Given the description of an element on the screen output the (x, y) to click on. 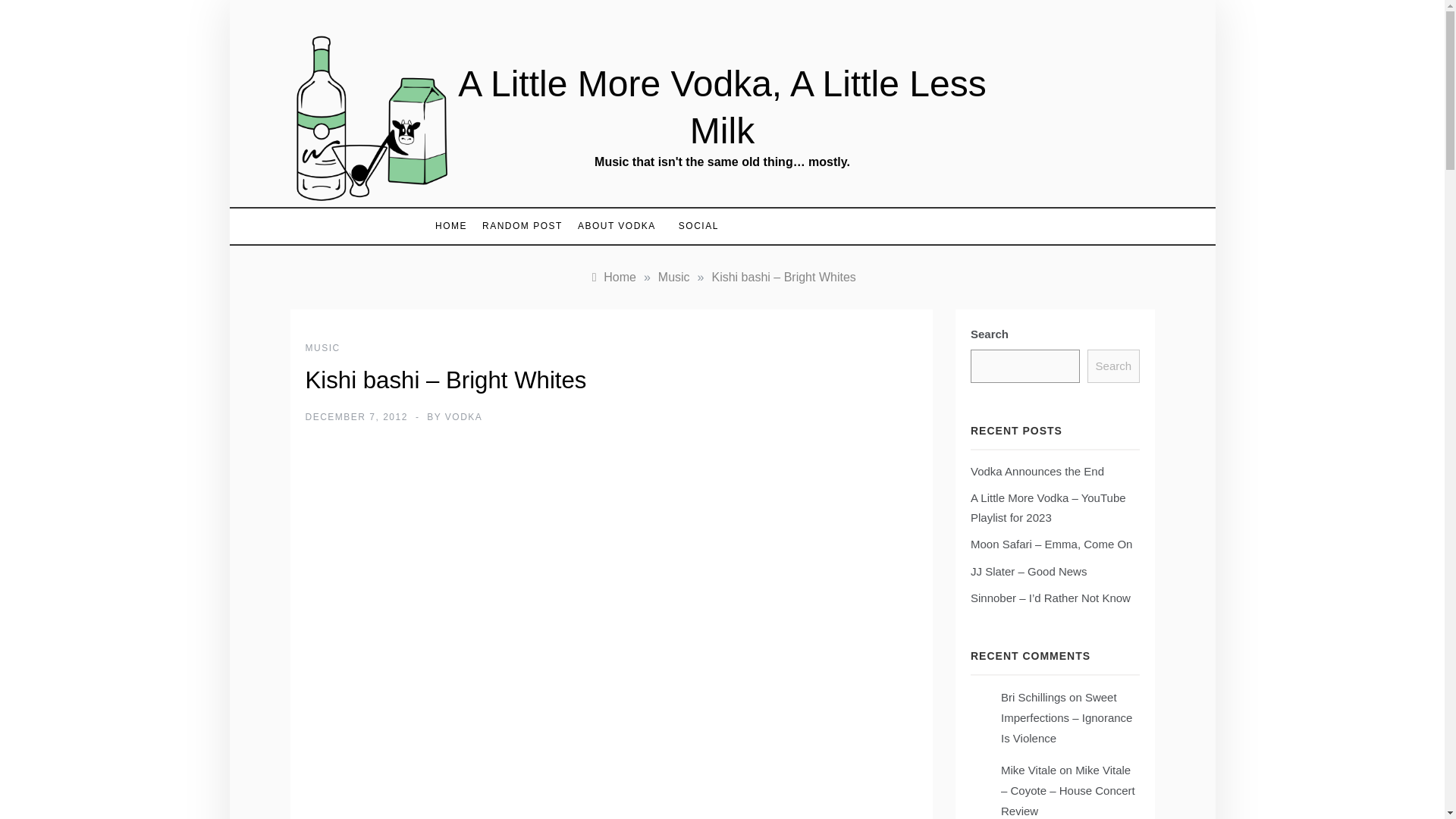
MUSIC (321, 347)
Vodka Announces the End (1037, 471)
Mike Vitale (1029, 769)
SOCIAL (691, 226)
RANDOM POST (522, 226)
Home (612, 277)
DECEMBER 7, 2012 (355, 416)
Bri Schillings (1033, 697)
HOME (454, 226)
